Given the description of an element on the screen output the (x, y) to click on. 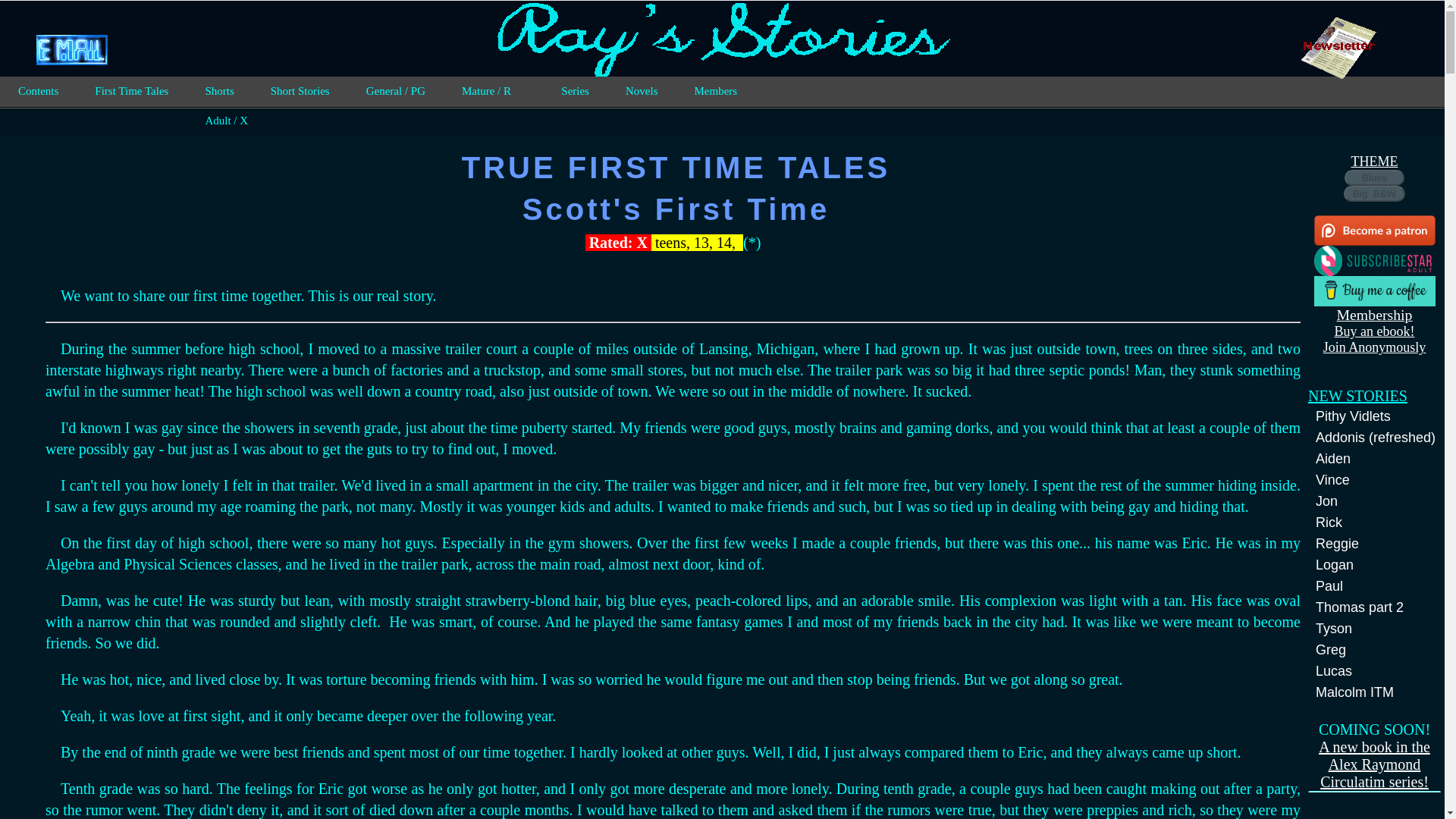
Join Anonymously (1374, 346)
Contents (38, 91)
SKIP NAVIGATION (87, 23)
Short Stories (299, 91)
Series (575, 91)
Members (715, 91)
Shorts (218, 91)
THEME (1374, 160)
A new book in the Alex Raymond Circulatim series! (1374, 764)
First Time Tales (131, 91)
